Given the description of an element on the screen output the (x, y) to click on. 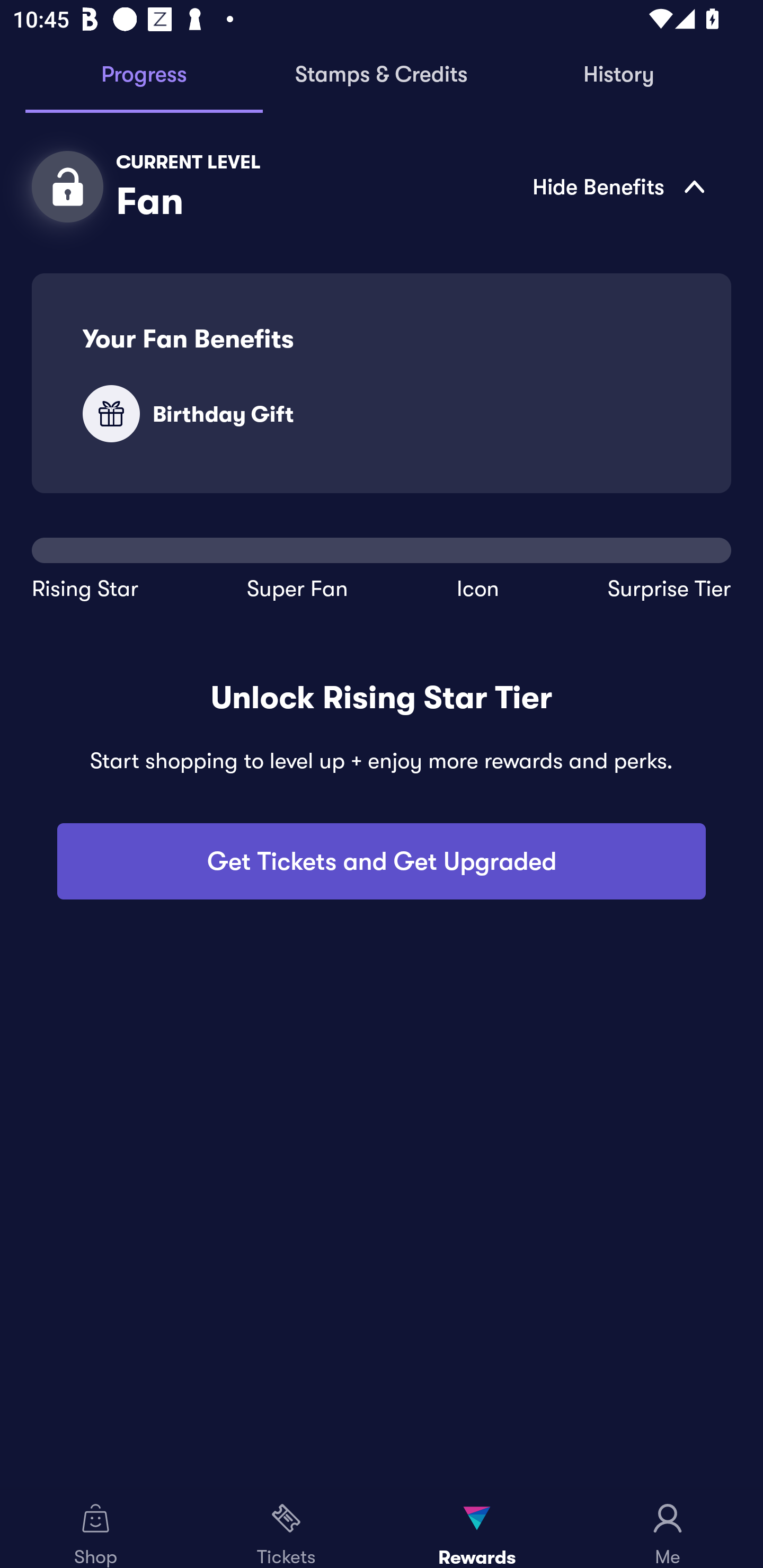
Progress (143, 74)
Stamps & Credits (381, 74)
History (618, 74)
Hide Benefits (501, 186)
Get Tickets and Get Upgraded (381, 861)
Shop (95, 1529)
Tickets (285, 1529)
Rewards (476, 1529)
Me (667, 1529)
